Given the description of an element on the screen output the (x, y) to click on. 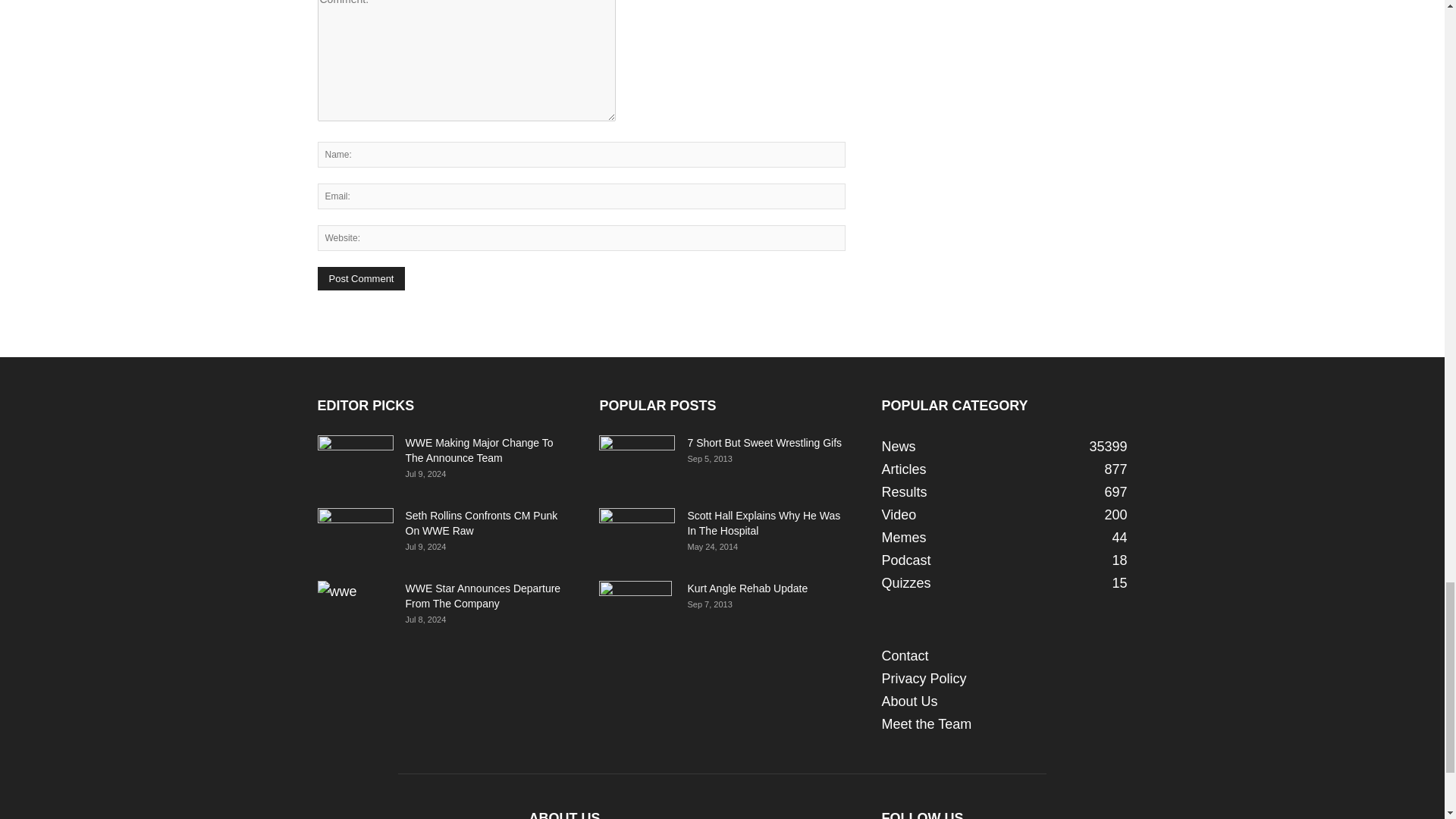
Post Comment (360, 278)
